Given the description of an element on the screen output the (x, y) to click on. 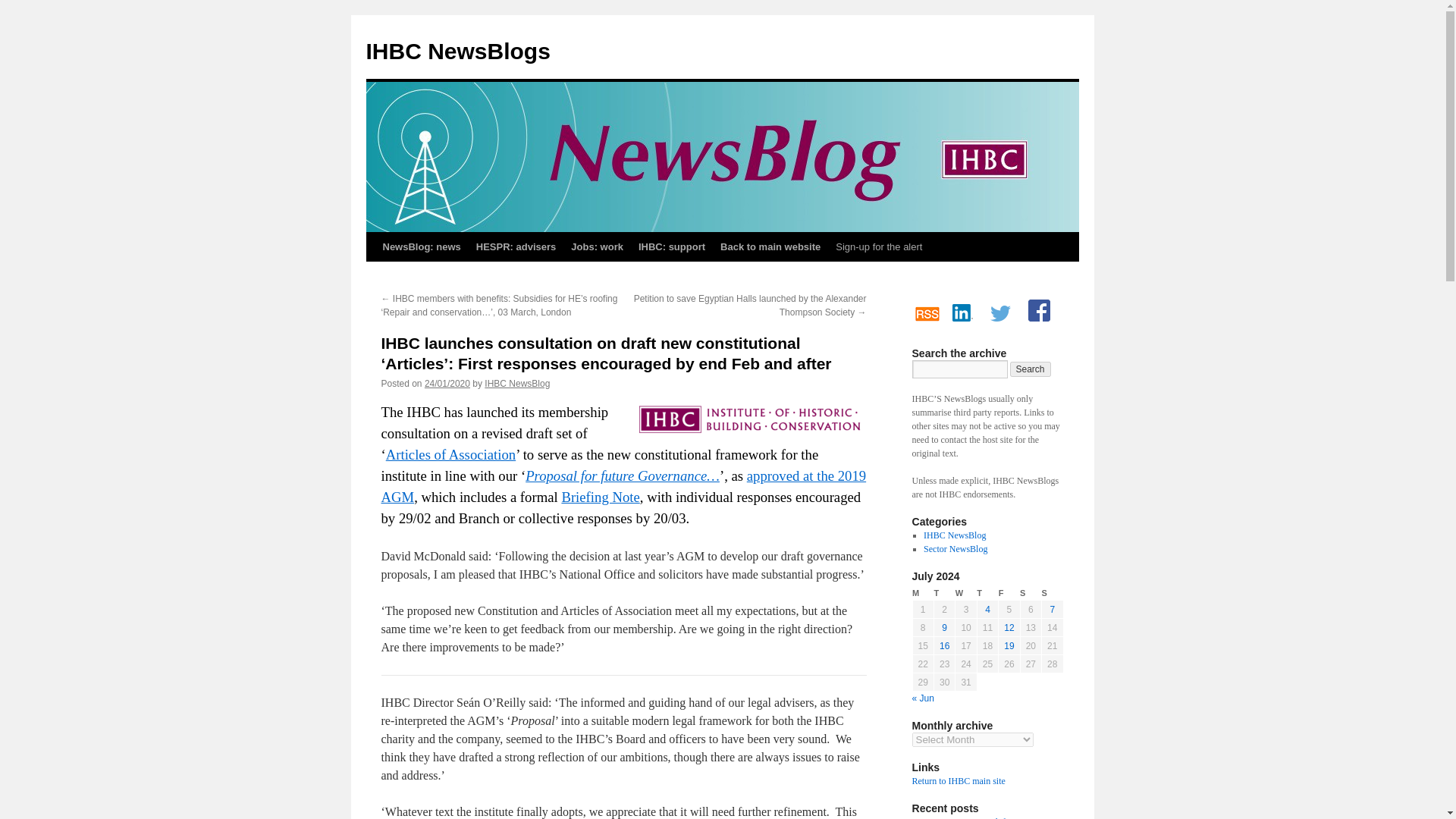
HESPR: advisers (516, 246)
IHBC NewsBlog (954, 534)
Sign-up for the alert (879, 246)
NewsBlog: news (420, 246)
Tuesday (944, 593)
5:55 pm (447, 383)
Jobs: work (596, 246)
Sector NewsBlog (955, 548)
approved at the 2019 AGM (623, 486)
Sunday (1052, 593)
Thursday (986, 593)
Back to main website (770, 246)
Wednesday (965, 593)
Search (1030, 368)
IHBC NewsBlog (517, 383)
